Given the description of an element on the screen output the (x, y) to click on. 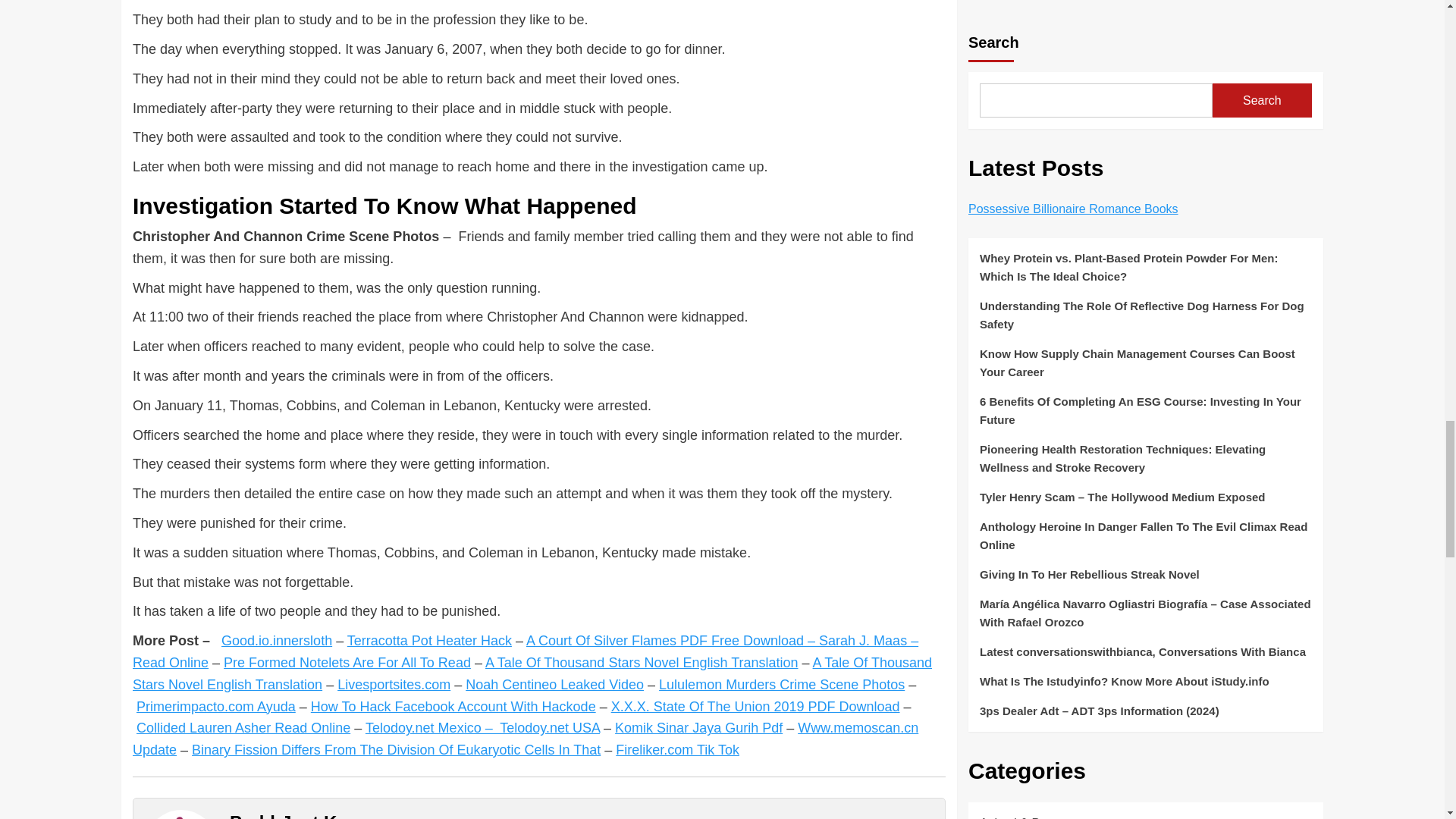
A Tale Of Thousand Stars Novel English Translation (531, 673)
Noah Centineo Leaked Video (554, 684)
Komik Sinar Jaya Gurih Pdf (698, 727)
How To Hack Facebook Account With Hackode (453, 706)
Good.io.innersloth (276, 640)
Primerimpacto.com Ayuda (215, 706)
Www.memoscan.cn Update (525, 738)
Terracotta Pot Heater Hack (429, 640)
Pre Formed Notelets Are For All To Read (347, 662)
A Tale Of Thousand Stars Novel English Translation (640, 662)
Livesportsites.com (393, 684)
Lululemon Murders Crime Scene Photos (781, 684)
Collided Lauren Asher Read Online (243, 727)
X.X.X. State Of The Union 2019 PDF Download (755, 706)
